Given the description of an element on the screen output the (x, y) to click on. 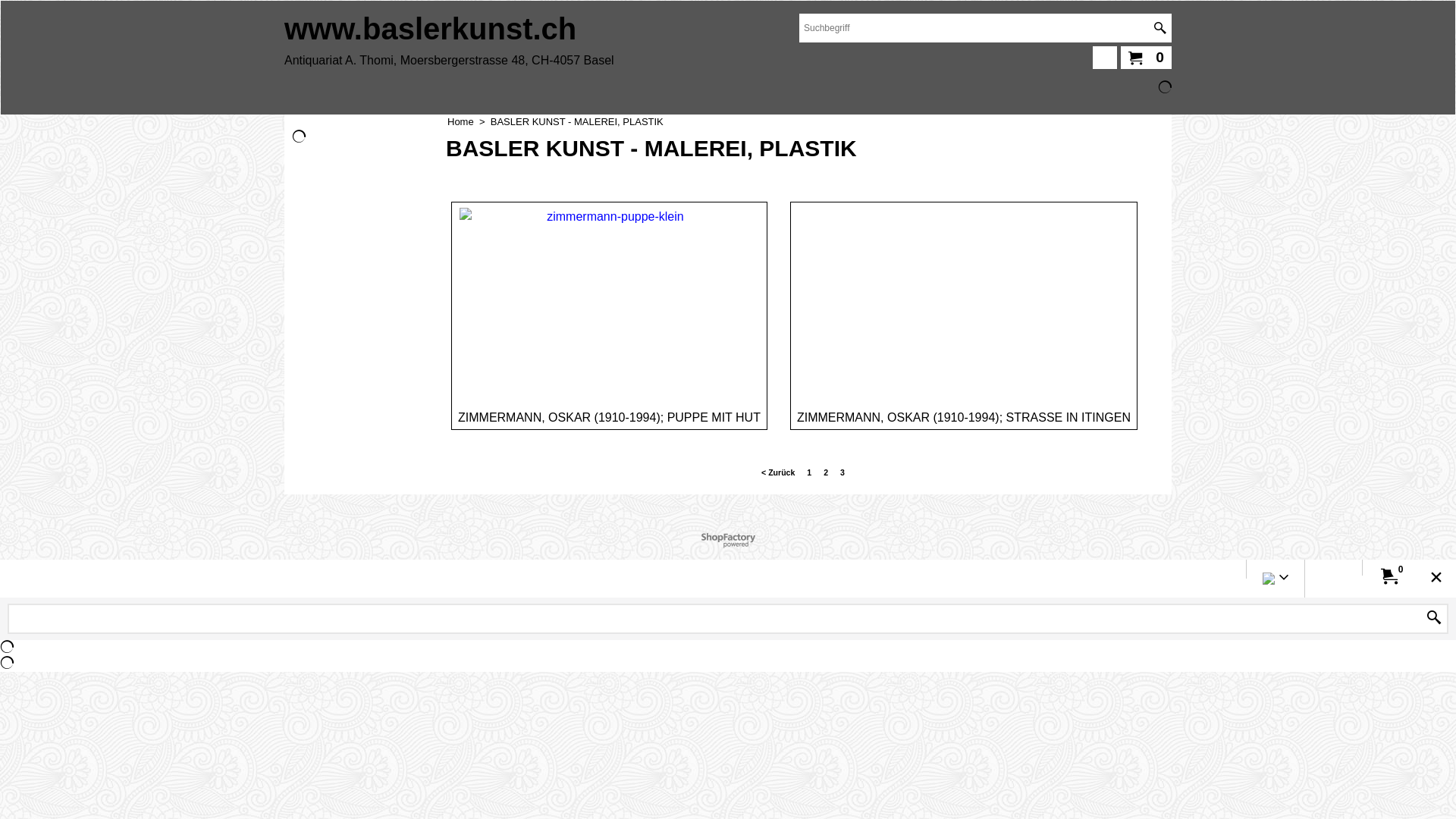
Suche Element type: hover (1159, 27)
  Element type: text (1433, 617)
0 Element type: text (1388, 576)
www.baslerkunst.ch Element type: text (430, 29)
1 Element type: text (808, 472)
zimmermann-itingen-gross Element type: hover (963, 300)
Deutsch Element type: hover (1268, 580)
2 Element type: text (825, 472)
zimmermann-puppe-klein Element type: hover (609, 300)
Suche Element type: hover (1433, 617)
Home  >  Element type: text (468, 121)
